Given the description of an element on the screen output the (x, y) to click on. 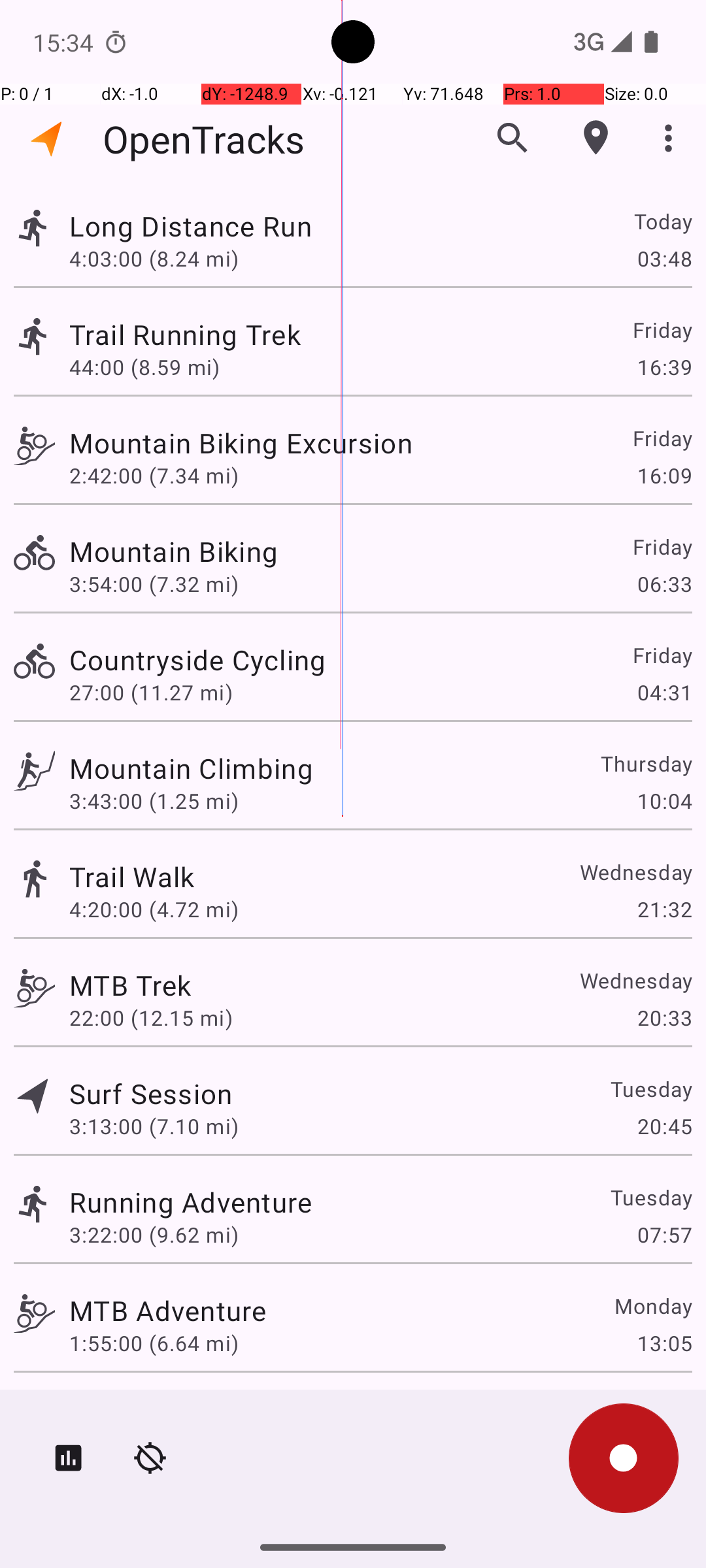
Long Distance Run Element type: android.widget.TextView (190, 225)
4:03:00 (8.24 mi) Element type: android.widget.TextView (153, 258)
03:48 Element type: android.widget.TextView (664, 258)
Trail Running Trek Element type: android.widget.TextView (184, 333)
44:00 (8.59 mi) Element type: android.widget.TextView (144, 366)
16:39 Element type: android.widget.TextView (664, 366)
Mountain Biking Excursion Element type: android.widget.TextView (240, 442)
2:42:00 (7.34 mi) Element type: android.widget.TextView (153, 475)
16:09 Element type: android.widget.TextView (664, 475)
Mountain Biking Element type: android.widget.TextView (173, 550)
3:54:00 (7.32 mi) Element type: android.widget.TextView (153, 583)
06:33 Element type: android.widget.TextView (664, 583)
Countryside Cycling Element type: android.widget.TextView (197, 659)
27:00 (11.27 mi) Element type: android.widget.TextView (150, 692)
04:31 Element type: android.widget.TextView (664, 692)
Mountain Climbing Element type: android.widget.TextView (190, 767)
3:43:00 (1.25 mi) Element type: android.widget.TextView (153, 800)
10:04 Element type: android.widget.TextView (664, 800)
Trail Walk Element type: android.widget.TextView (131, 876)
4:20:00 (4.72 mi) Element type: android.widget.TextView (153, 909)
21:32 Element type: android.widget.TextView (664, 909)
MTB Trek Element type: android.widget.TextView (129, 984)
22:00 (12.15 mi) Element type: android.widget.TextView (150, 1017)
20:33 Element type: android.widget.TextView (664, 1017)
Surf Session Element type: android.widget.TextView (150, 1092)
3:13:00 (7.10 mi) Element type: android.widget.TextView (153, 1125)
20:45 Element type: android.widget.TextView (664, 1125)
Running Adventure Element type: android.widget.TextView (190, 1201)
3:22:00 (9.62 mi) Element type: android.widget.TextView (153, 1234)
07:57 Element type: android.widget.TextView (664, 1234)
MTB Adventure Element type: android.widget.TextView (167, 1309)
1:55:00 (6.64 mi) Element type: android.widget.TextView (153, 1342)
13:05 Element type: android.widget.TextView (664, 1342)
Road Cycling Element type: android.widget.TextView (152, 1408)
